Given the description of an element on the screen output the (x, y) to click on. 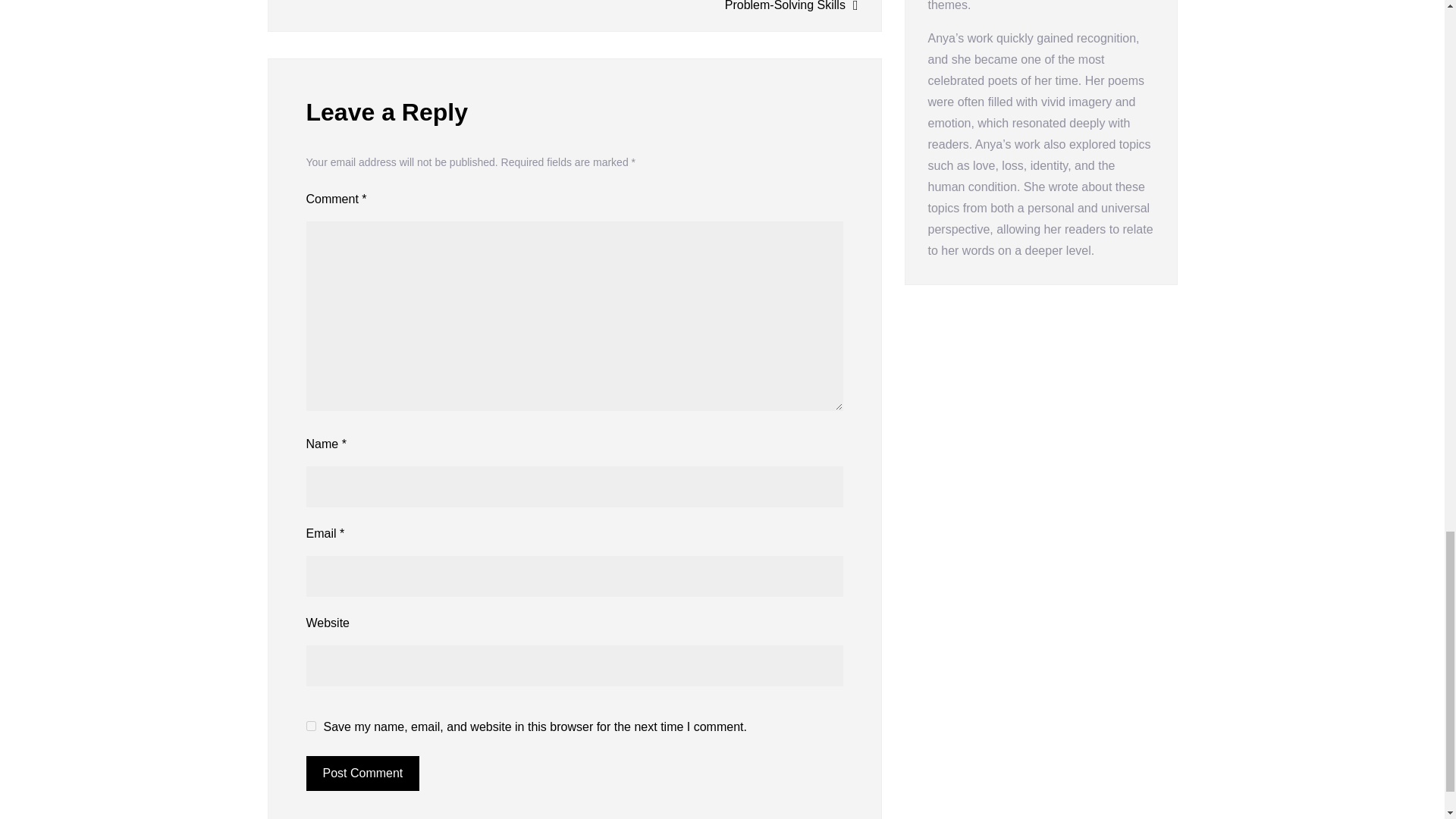
The Best Online Games For Developing Problem-Solving Skills (724, 7)
Post Comment (362, 773)
yes (310, 726)
Post Comment (362, 773)
